Given the description of an element on the screen output the (x, y) to click on. 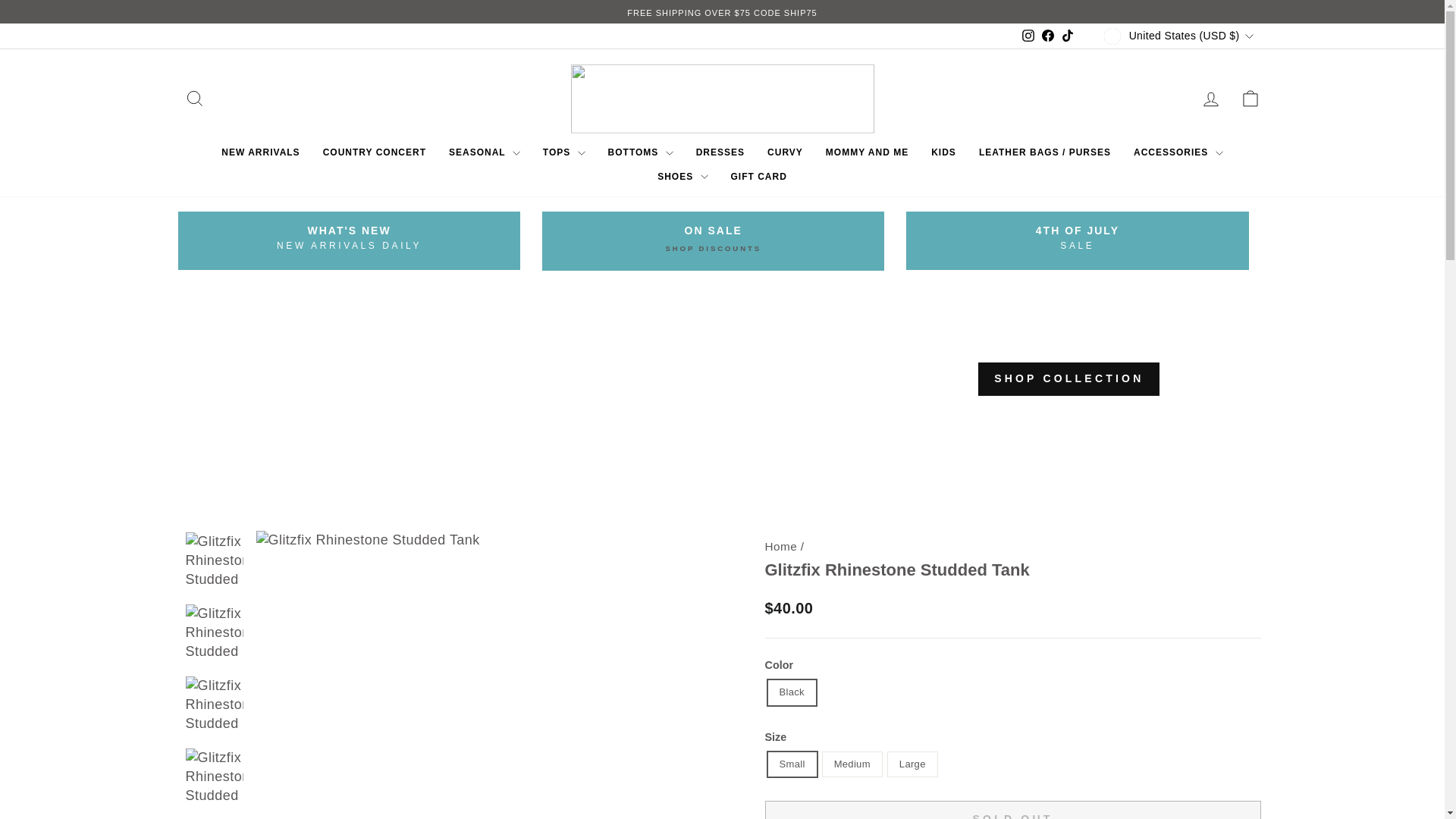
Back to the frontpage (780, 545)
ACCOUNT (1210, 98)
instagram (1027, 35)
ICON-SEARCH (194, 97)
ICON-BAG-MINIMAL (1249, 97)
